Given the description of an element on the screen output the (x, y) to click on. 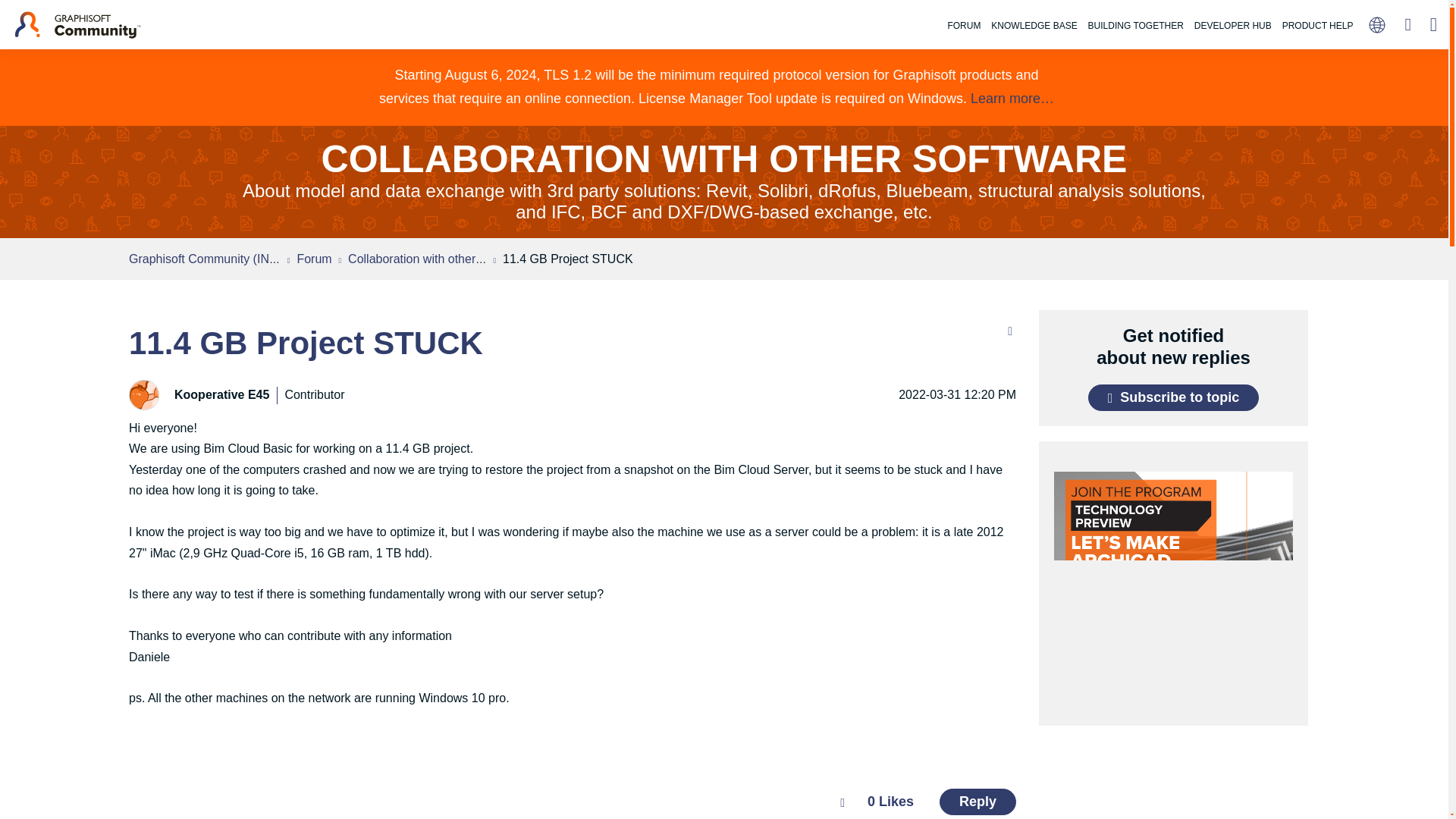
KNOWLEDGE BASE (1033, 25)
FORUM (963, 25)
BUILDING TOGETHER (1136, 25)
